Given the description of an element on the screen output the (x, y) to click on. 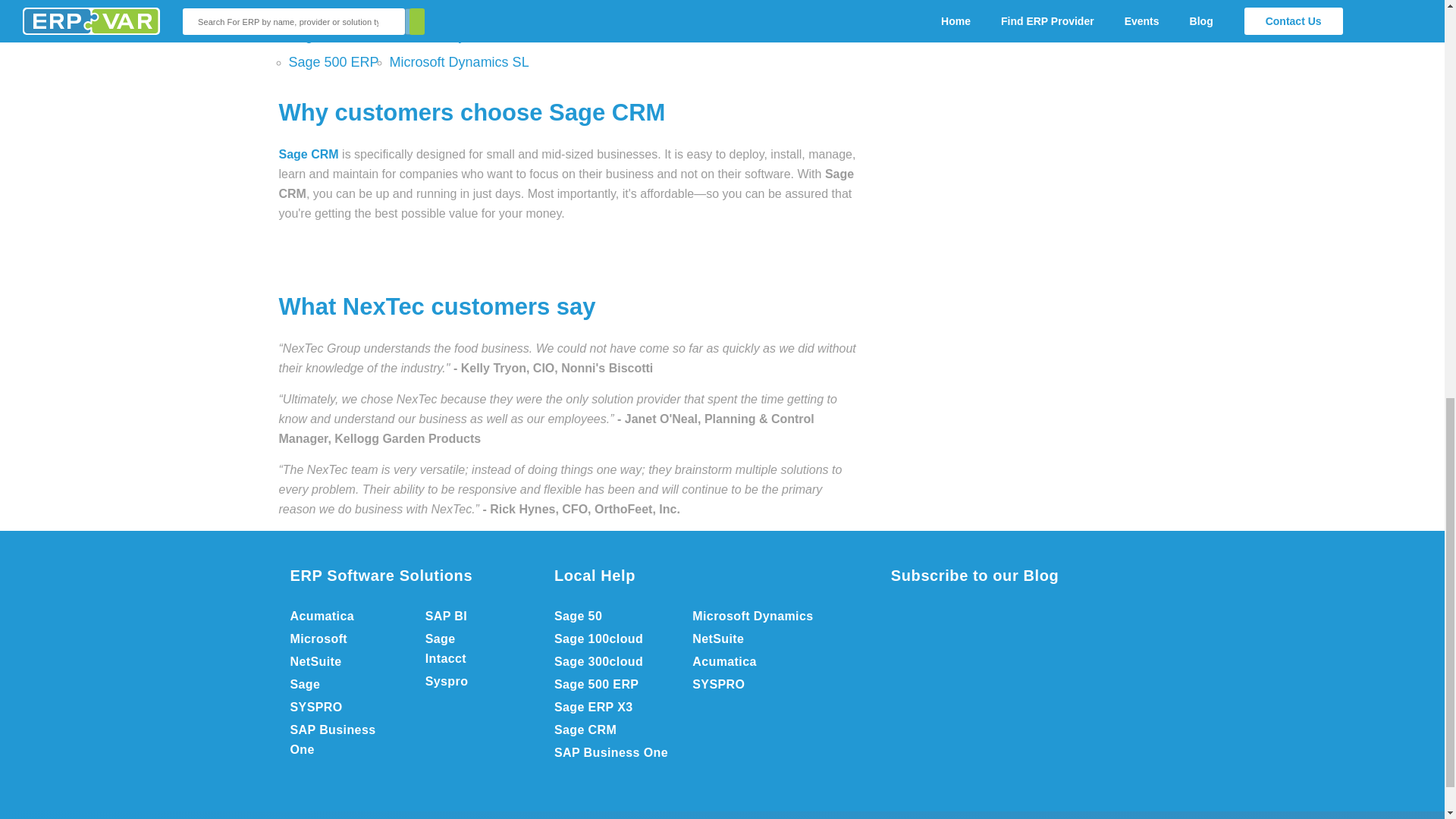
Sage CRM (309, 154)
NetSuite (342, 661)
Sage 500 ERP (333, 61)
Microsoft (342, 639)
Sage ERP X3 (330, 35)
Microsoft Dynamics GP (461, 35)
Microsoft Dynamics CRM (466, 8)
Sage CRM (321, 8)
Microsoft Dynamics CRM (466, 8)
Microsoft Dynamics SL (459, 61)
Microsoft Dynamics SL (459, 61)
Sage CRM (309, 154)
Sage ERP X3 (330, 35)
Microsoft Dynamics GP (461, 35)
Sage 500 ERP (333, 61)
